Given the description of an element on the screen output the (x, y) to click on. 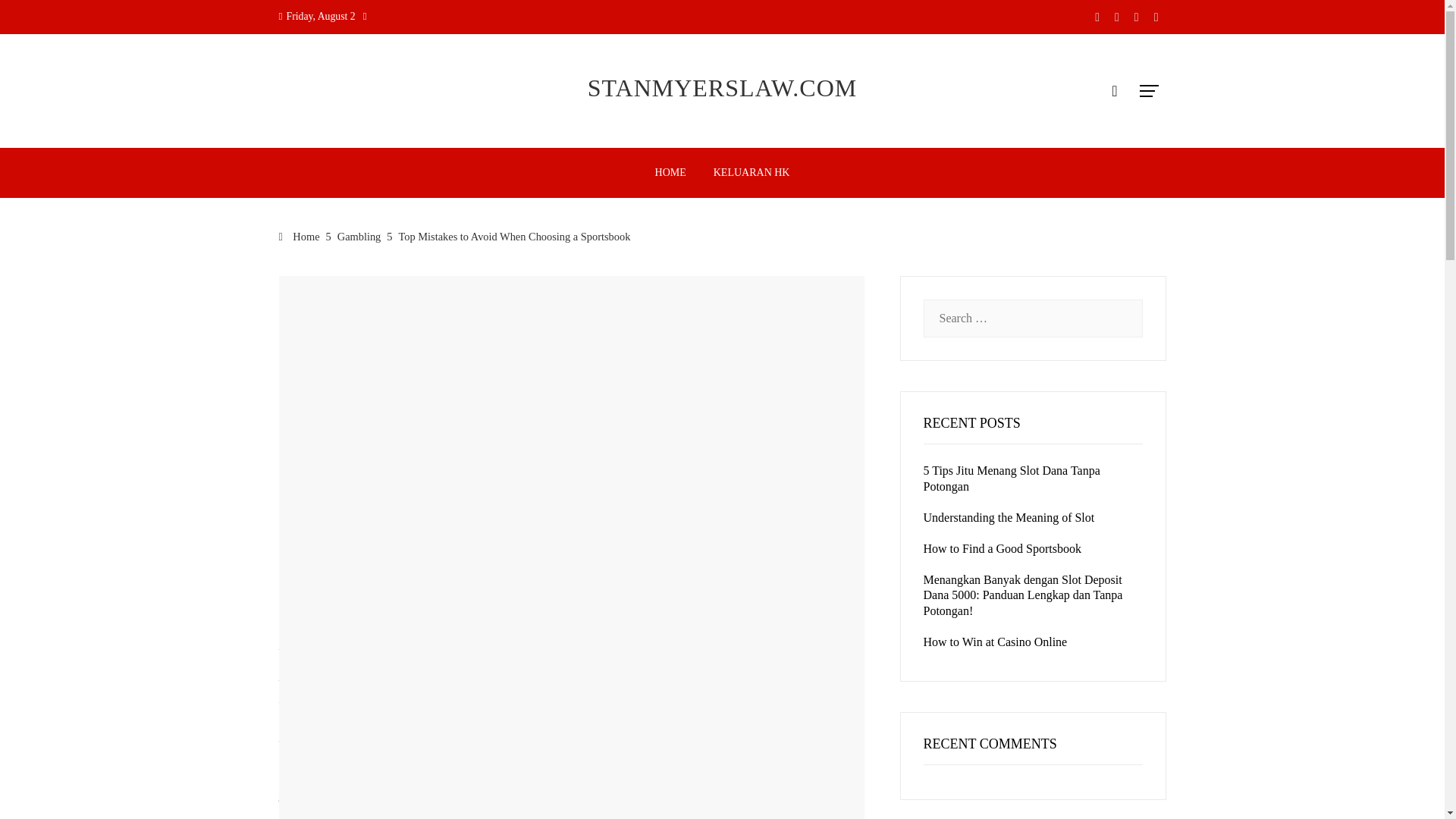
How to Find a Good Sportsbook (1002, 548)
Understanding the Meaning of Slot (1008, 517)
Search (35, 18)
How to Win at Casino Online (995, 641)
Home (299, 236)
STANMYERSLAW.COM (722, 87)
5 Tips Jitu Menang Slot Dana Tanpa Potongan (1011, 478)
Gambling (359, 236)
GAMBLING (305, 280)
KELUARAN HK (751, 173)
HOME (670, 173)
